Given the description of an element on the screen output the (x, y) to click on. 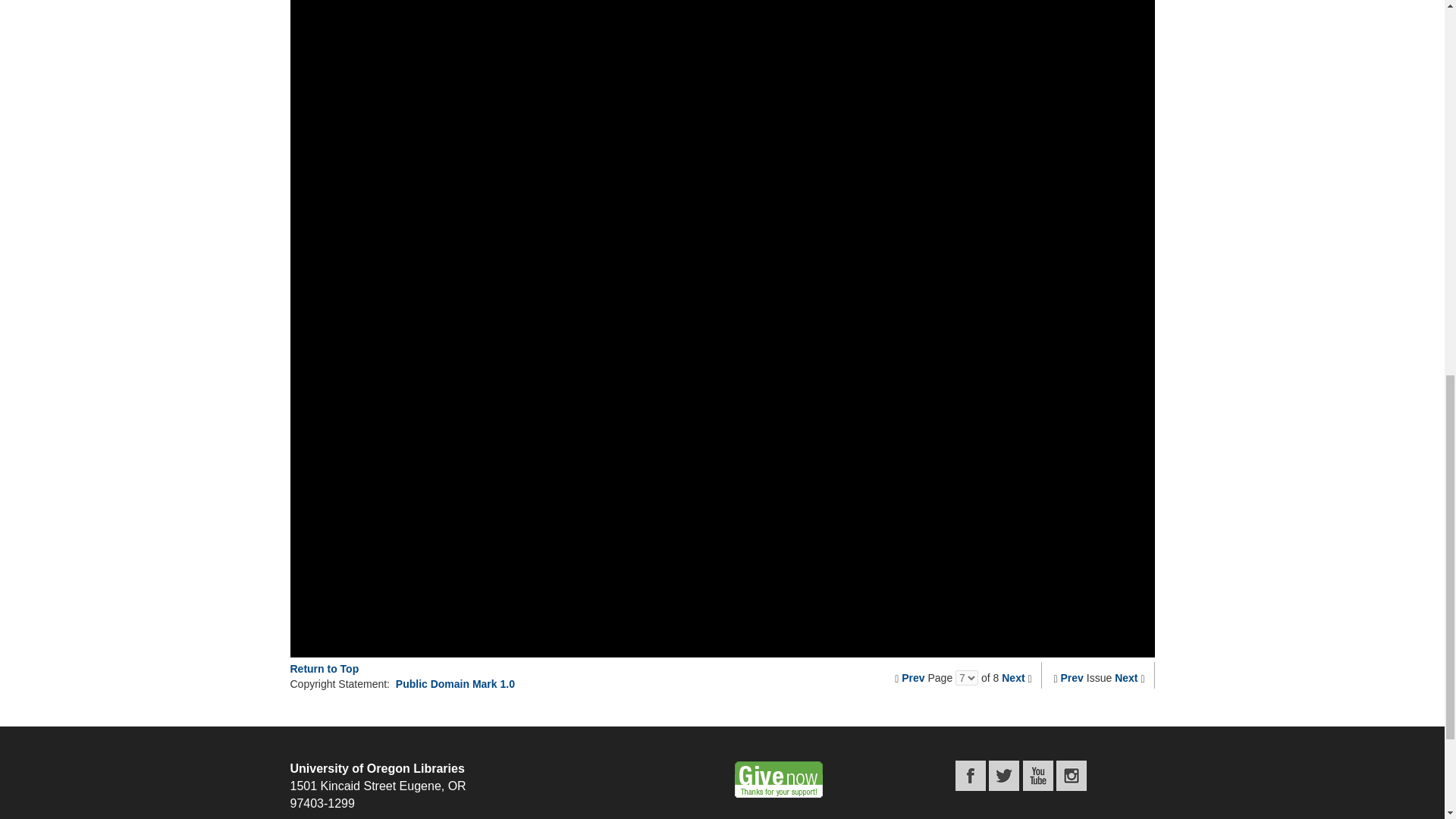
Public Domain Mark 1.0 (455, 684)
Prev (1072, 677)
Return to Top (323, 668)
Prev (912, 677)
Next (1126, 677)
Next (1013, 677)
